Given the description of an element on the screen output the (x, y) to click on. 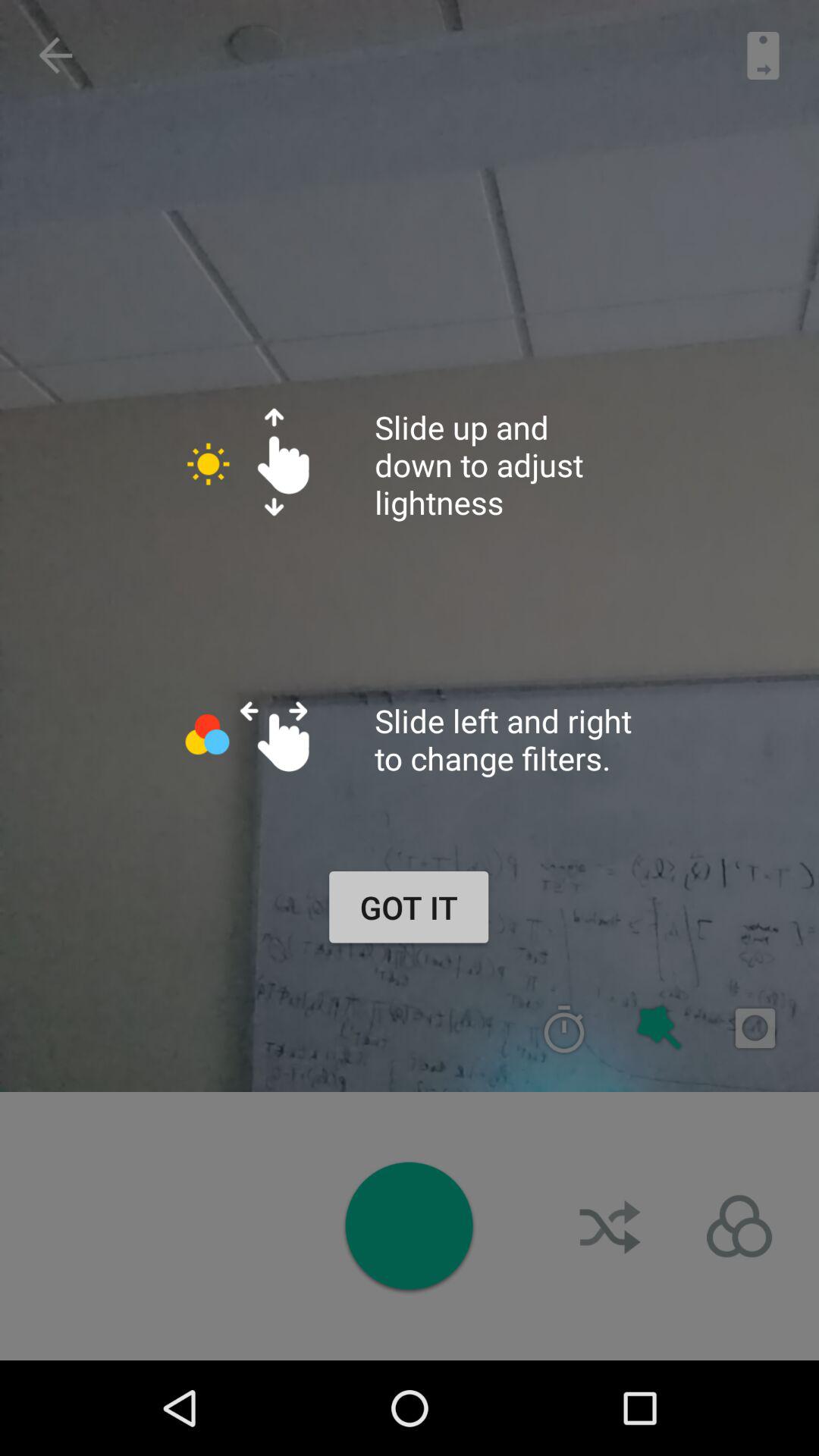
timer option (563, 1028)
